Given the description of an element on the screen output the (x, y) to click on. 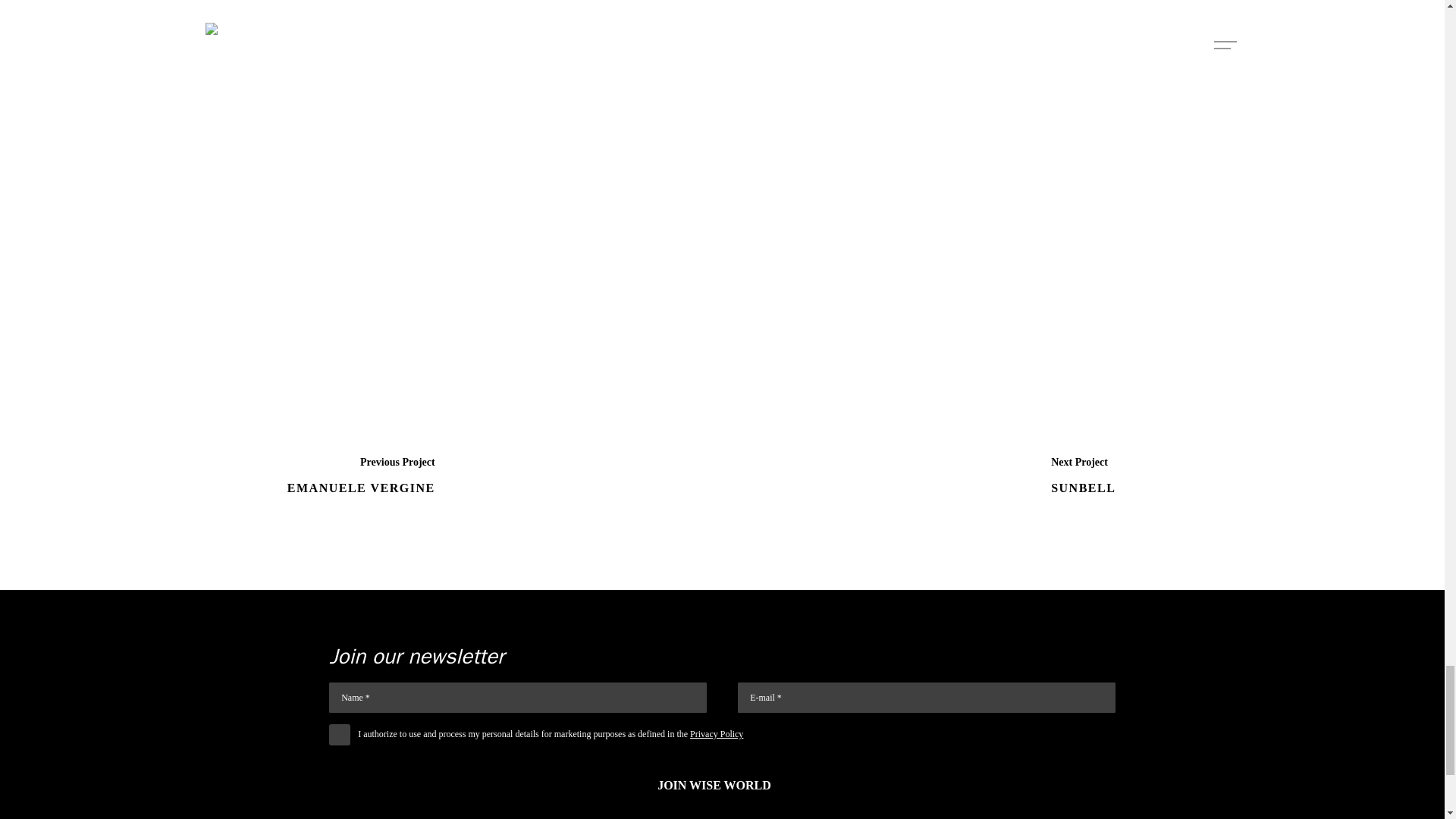
JOIN WISE WORLD (721, 785)
Privacy Policy (716, 733)
on (339, 734)
